Given the description of an element on the screen output the (x, y) to click on. 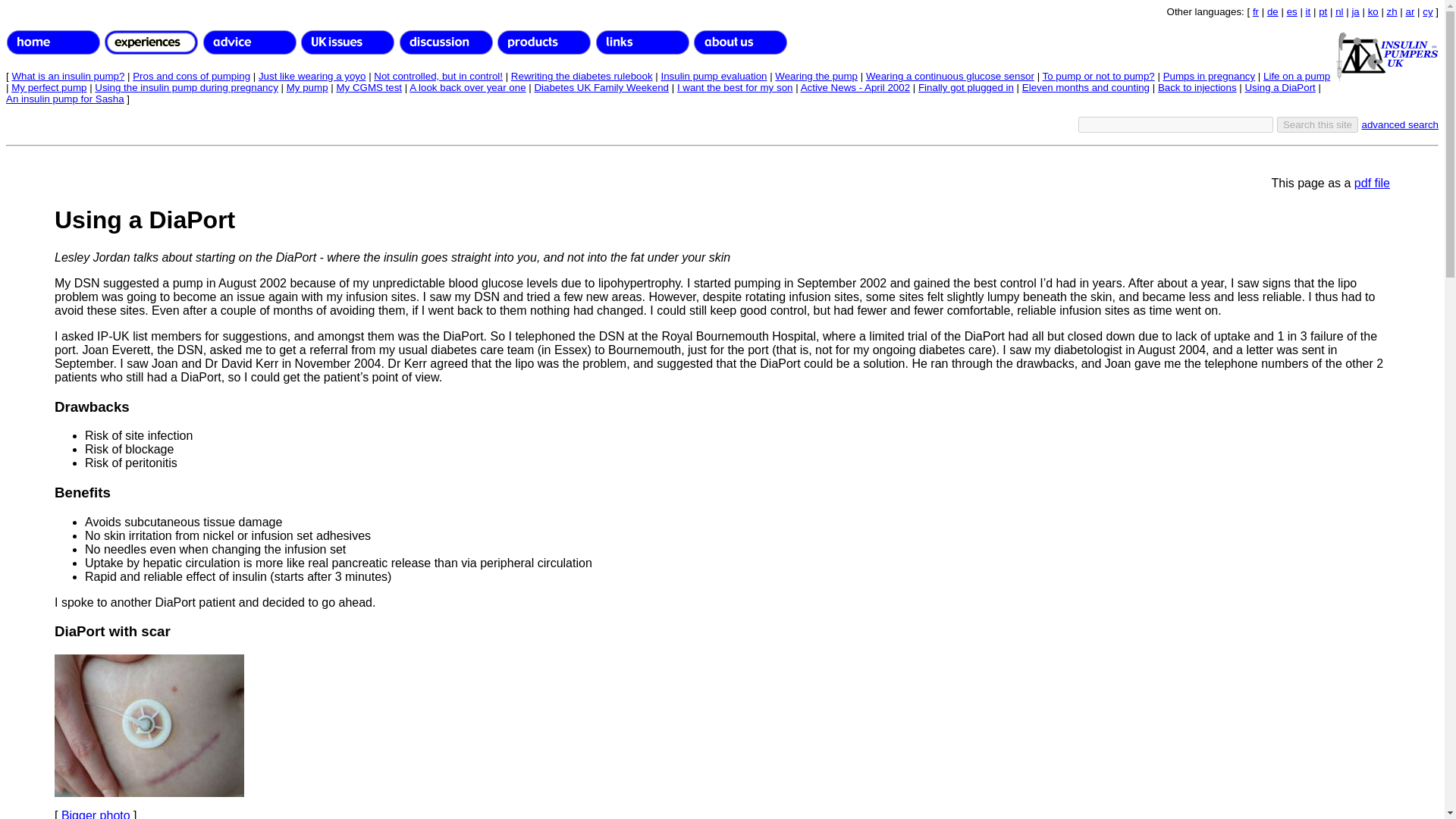
What is an insulin pump? (67, 75)
Using the insulin pump during pregnancy (186, 87)
Not controlled, but in control! (438, 75)
Pumps in pregnancy (1209, 75)
ko (1373, 11)
A look back over year one (467, 87)
My CGMS test (368, 87)
Just like wearing a yoyo (312, 75)
es (1292, 11)
My perfect pump (48, 87)
Rewriting the diabetes rulebook (581, 75)
Diabetes UK Family Weekend (601, 87)
zh (1392, 11)
de (1272, 11)
My pump (307, 87)
